Given the description of an element on the screen output the (x, y) to click on. 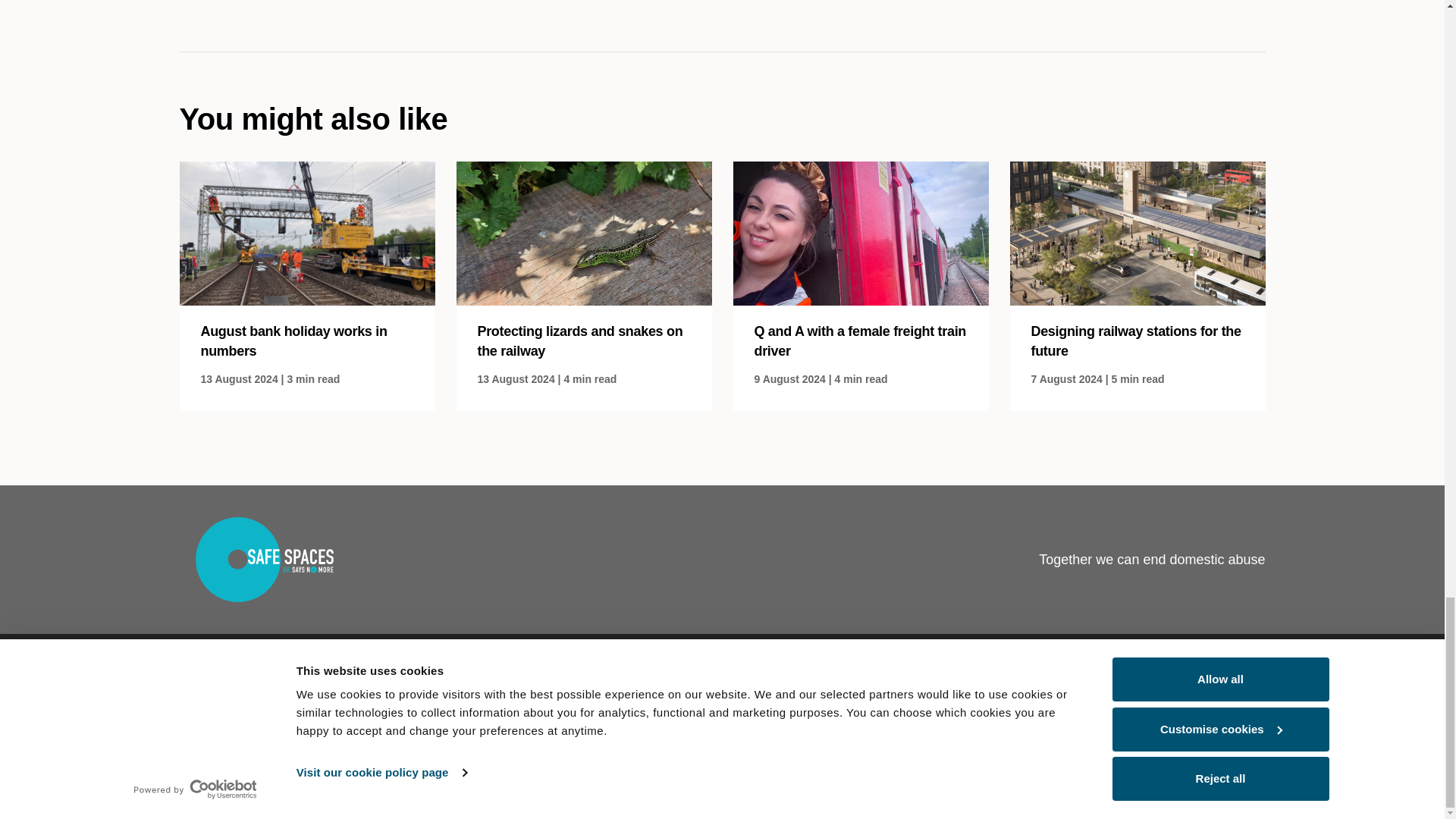
Network Rail on Instagram (1044, 752)
Network Rail on Twitter (1118, 752)
Network Rail on Linkedin (1080, 752)
Network Rail on Facebook (1006, 752)
Network Rail on Youtube (1155, 752)
